Given the description of an element on the screen output the (x, y) to click on. 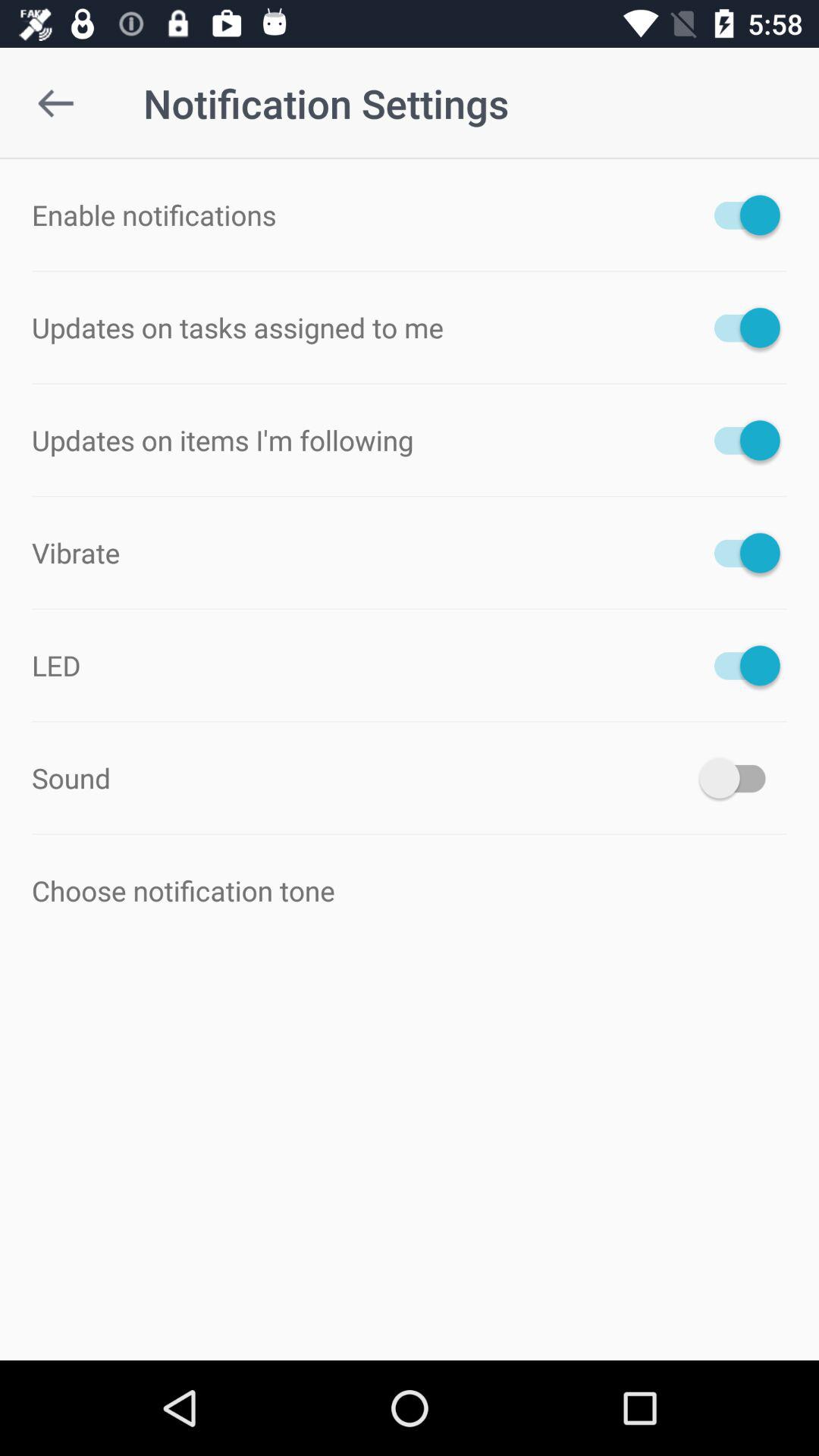
open the item to the right of the enable notifications item (739, 214)
